Given the description of an element on the screen output the (x, y) to click on. 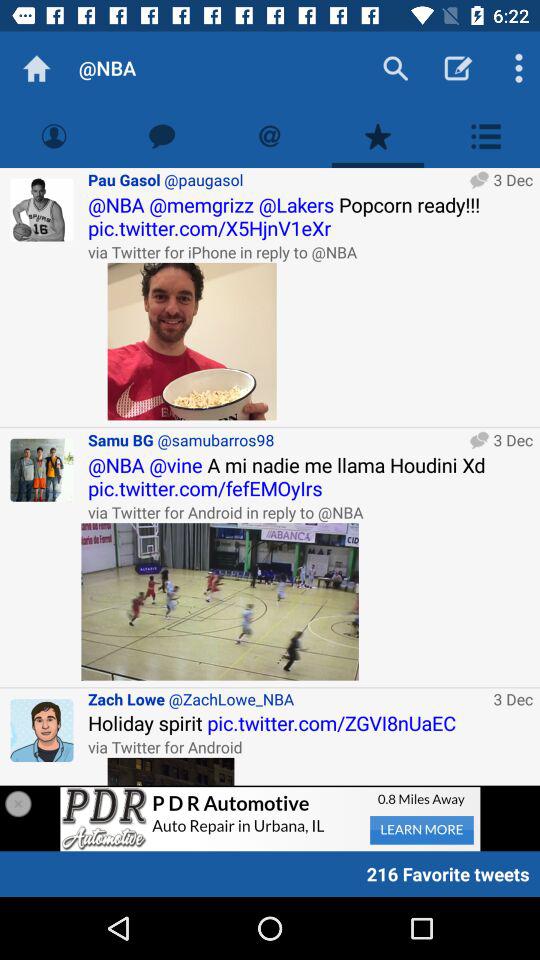
press the zach lowe @zachlowe_nba (287, 698)
